Given the description of an element on the screen output the (x, y) to click on. 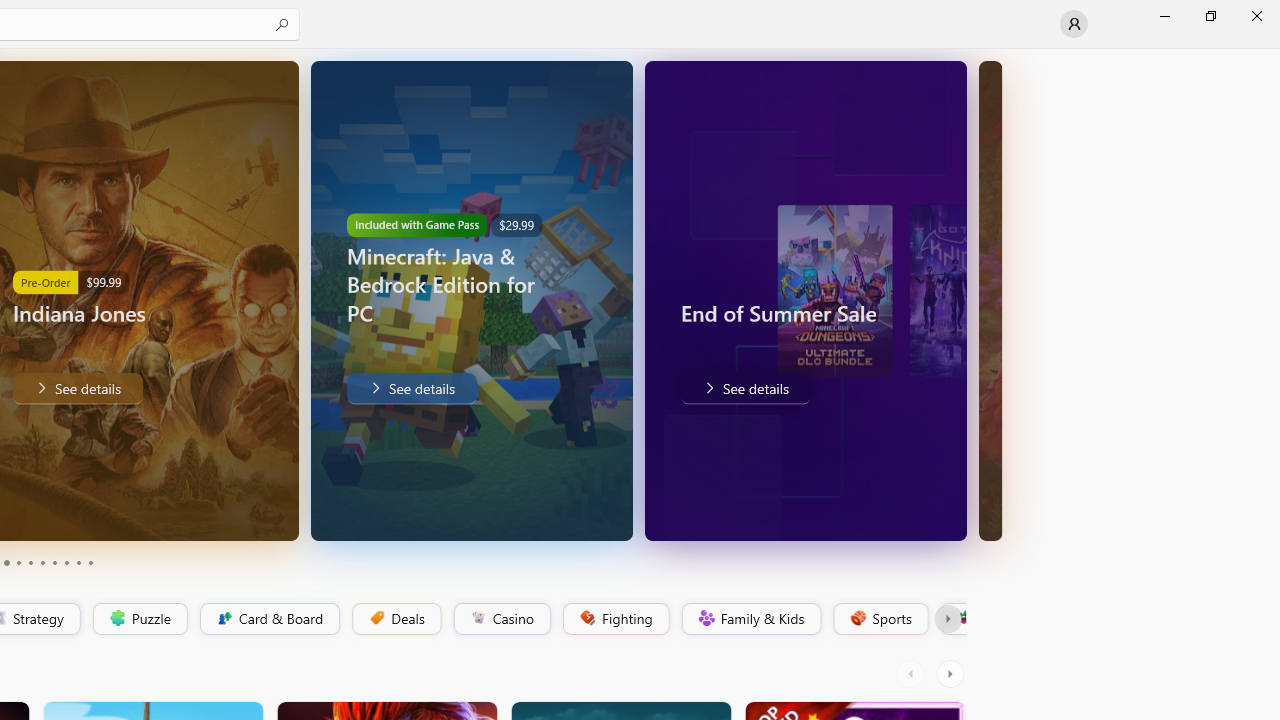
Page 10 (90, 562)
Card & Board (268, 619)
Page 6 (41, 562)
Class: Button (947, 619)
Fighting (614, 619)
Page 8 (65, 562)
Page 3 (5, 562)
Deals (395, 619)
Page 7 (54, 562)
AutomationID: RightScrollButton (952, 673)
